Given the description of an element on the screen output the (x, y) to click on. 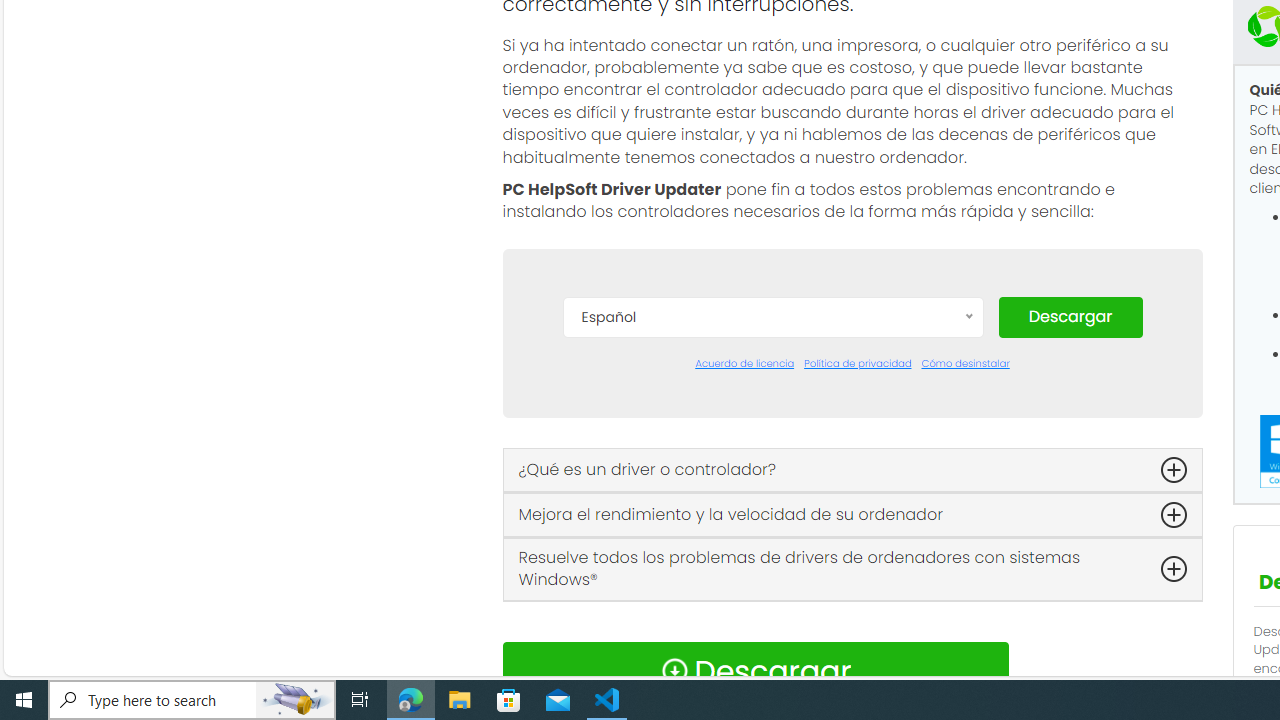
Dansk (772, 411)
English (772, 501)
Acuerdo de licencia (744, 363)
Download Icon Descargar (754, 670)
Norsk (772, 652)
Descargar (1070, 316)
Download Icon (674, 670)
Italiano (772, 591)
Nederlands (772, 621)
